Given the description of an element on the screen output the (x, y) to click on. 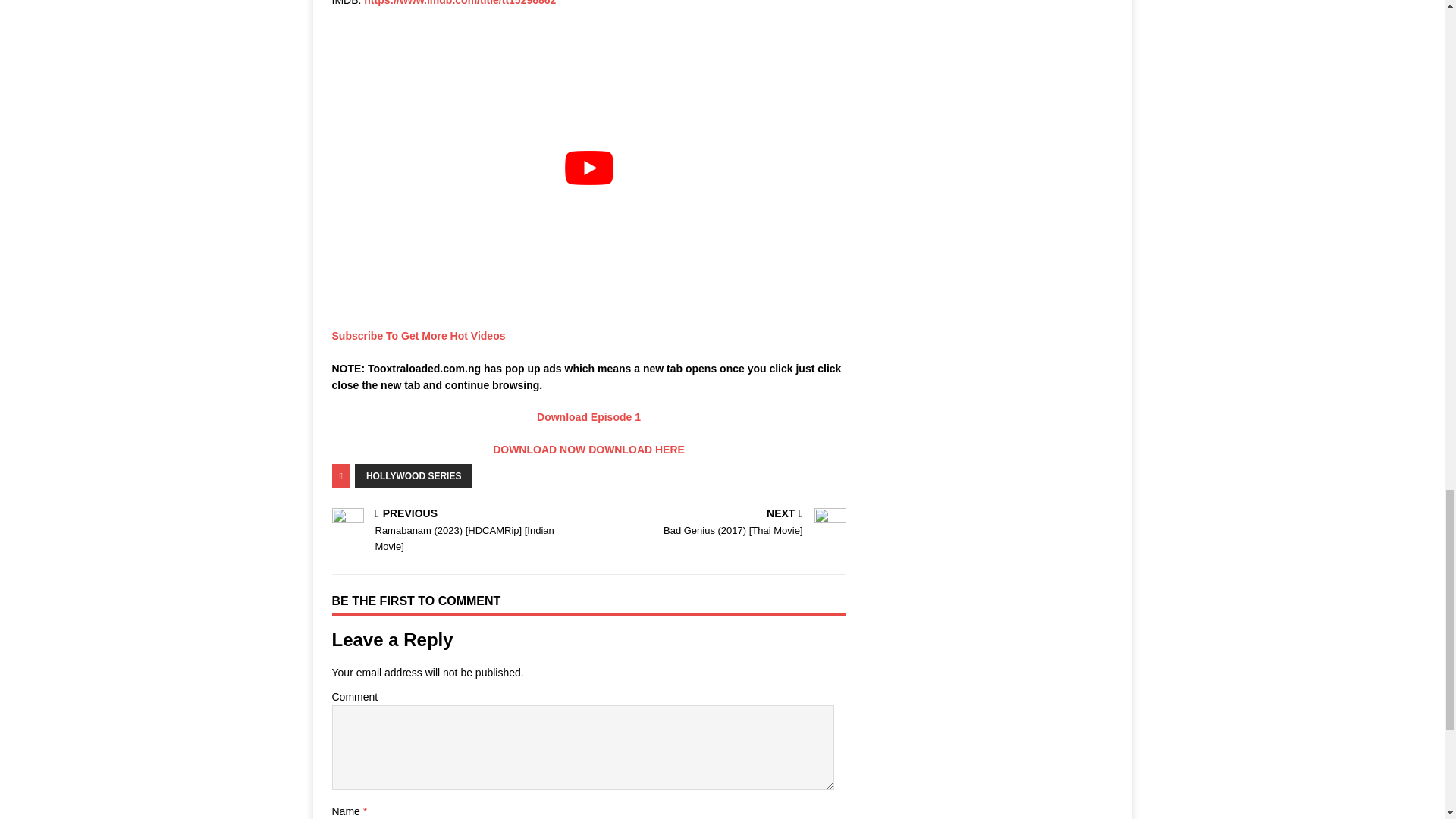
DOWNLOAD NOW (539, 449)
Subscribe To Get More Hot Videos (418, 336)
Download Episode 1 (588, 417)
DOWNLOAD HERE (636, 449)
HOLLYWOOD SERIES (414, 476)
